Given the description of an element on the screen output the (x, y) to click on. 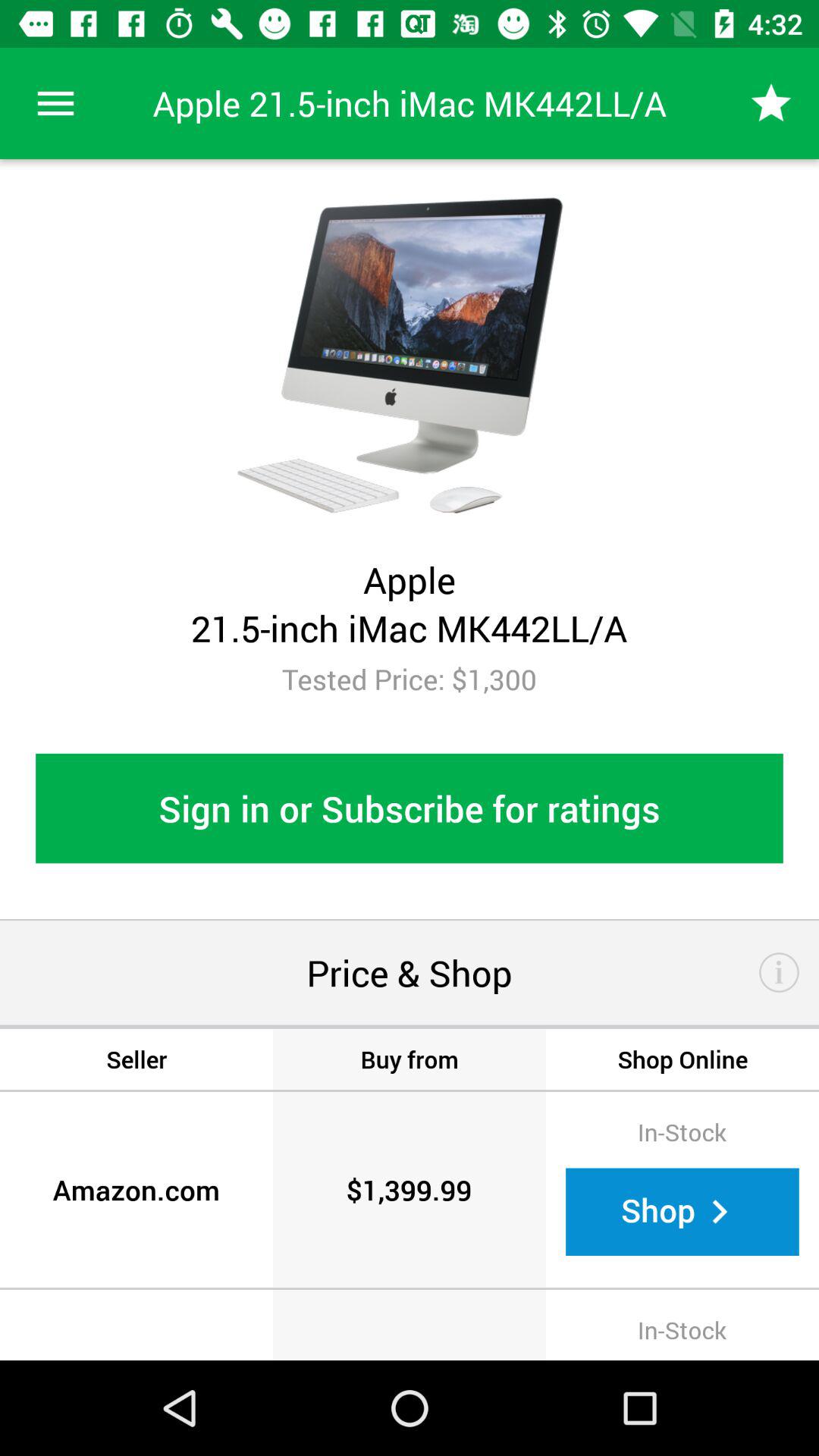
launch the item to the left of apple 21 5 icon (55, 103)
